Given the description of an element on the screen output the (x, y) to click on. 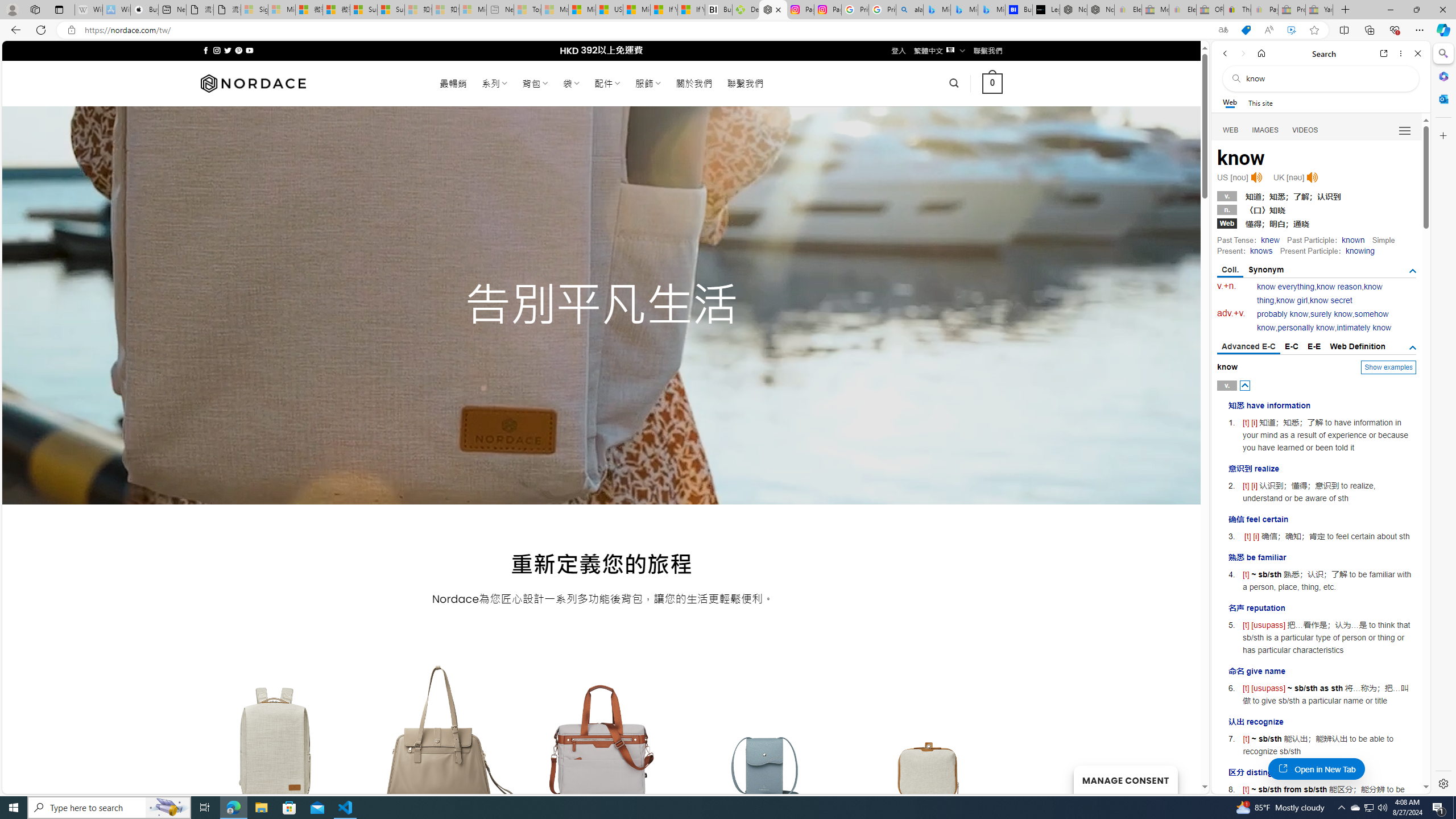
Follow on Facebook (205, 50)
Top Stories - MSN - Sleeping (527, 9)
Follow on YouTube (249, 50)
Microsoft Bing Travel - Shangri-La Hotel Bangkok (991, 9)
Press Room - eBay Inc. - Sleeping (1292, 9)
This site scope (1259, 102)
